Given the description of an element on the screen output the (x, y) to click on. 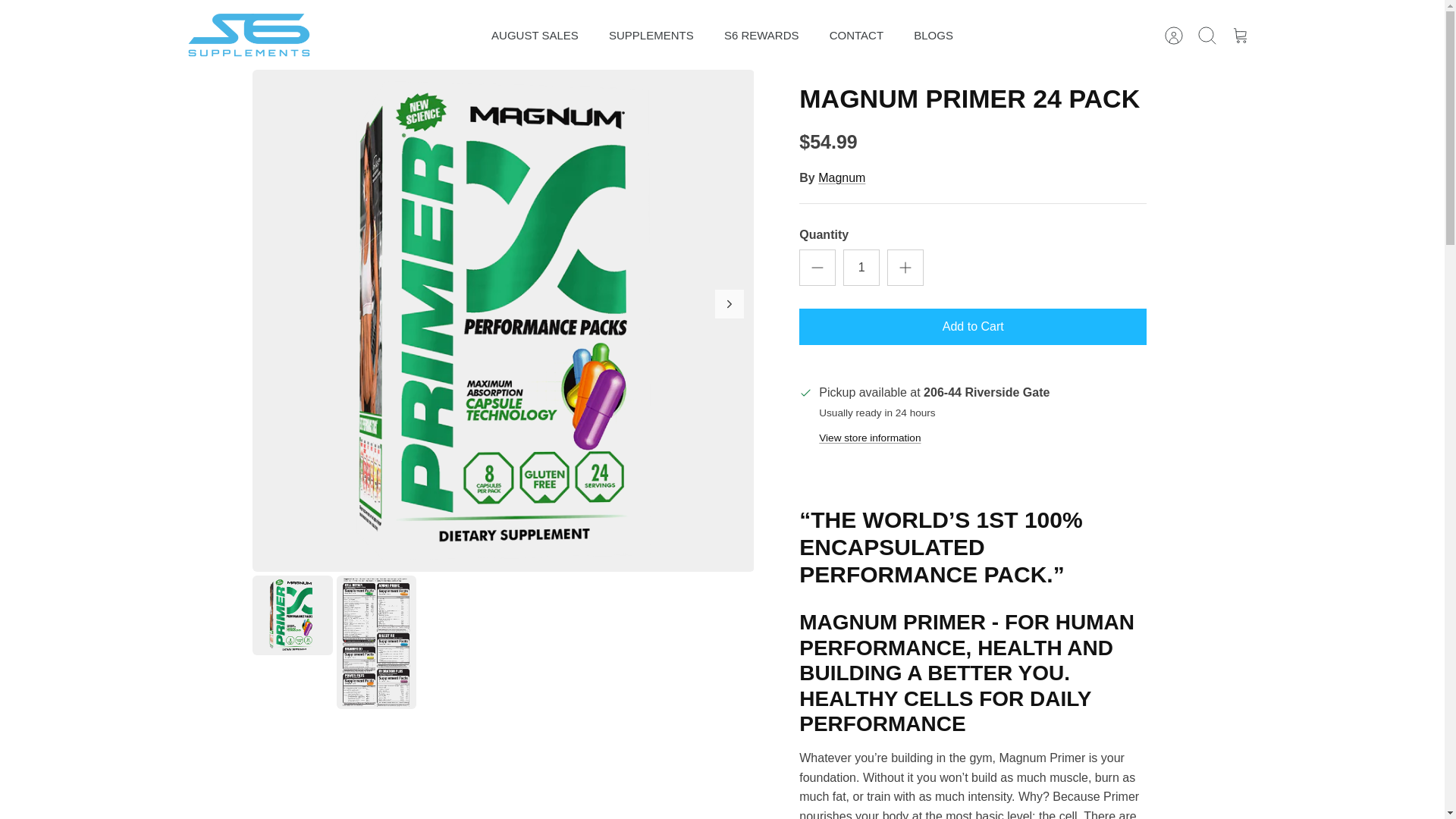
Sector 6 Supplements (250, 35)
AUGUST SALES (534, 35)
SUPPLEMENTS (651, 35)
1 (861, 267)
Right (729, 304)
